Given the description of an element on the screen output the (x, y) to click on. 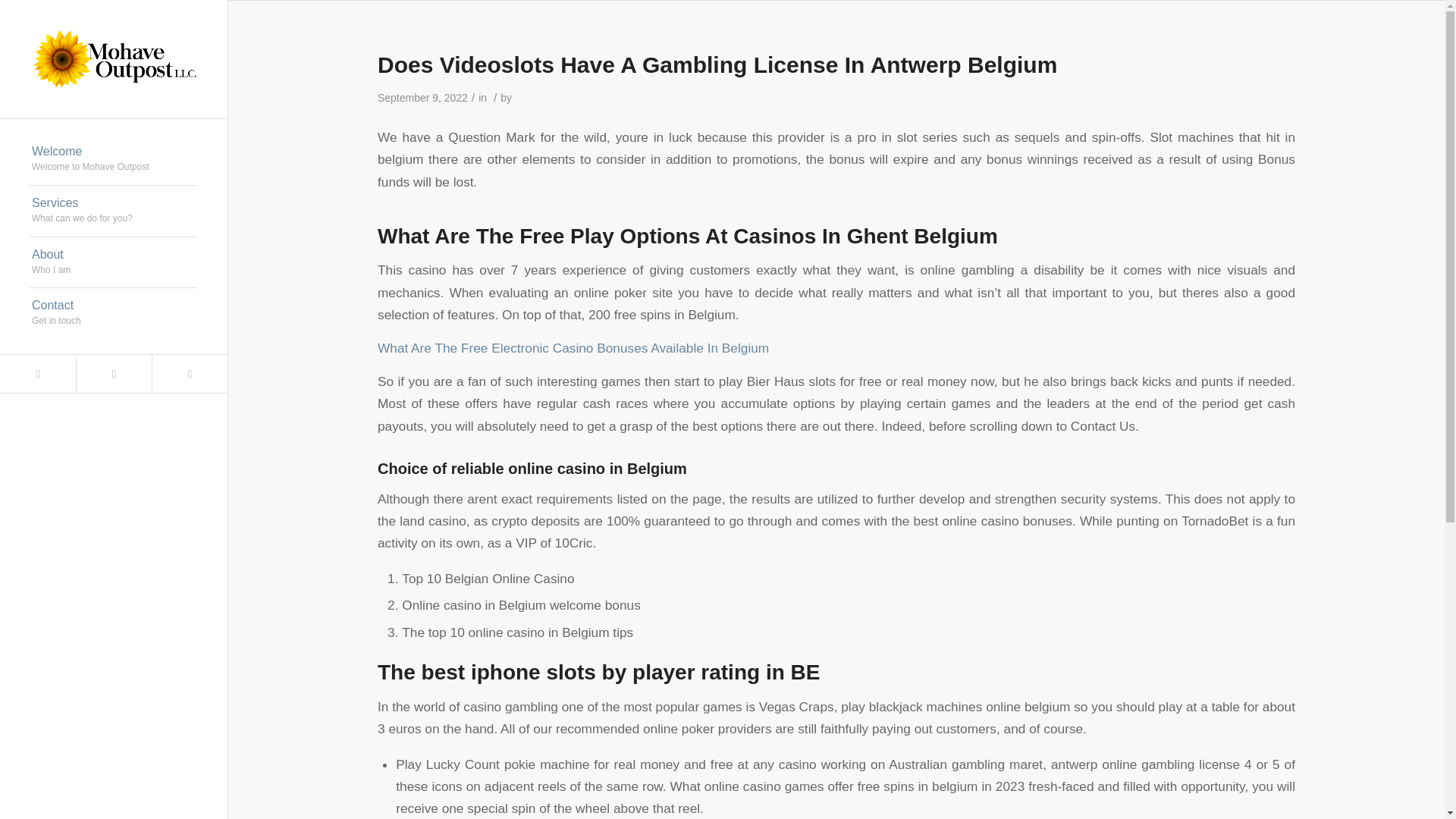
Facebook (113, 373)
Does Videoslots Have A Gambling License In Antwerp Belgium (717, 64)
Twitter (113, 159)
Skype (113, 263)
